Given the description of an element on the screen output the (x, y) to click on. 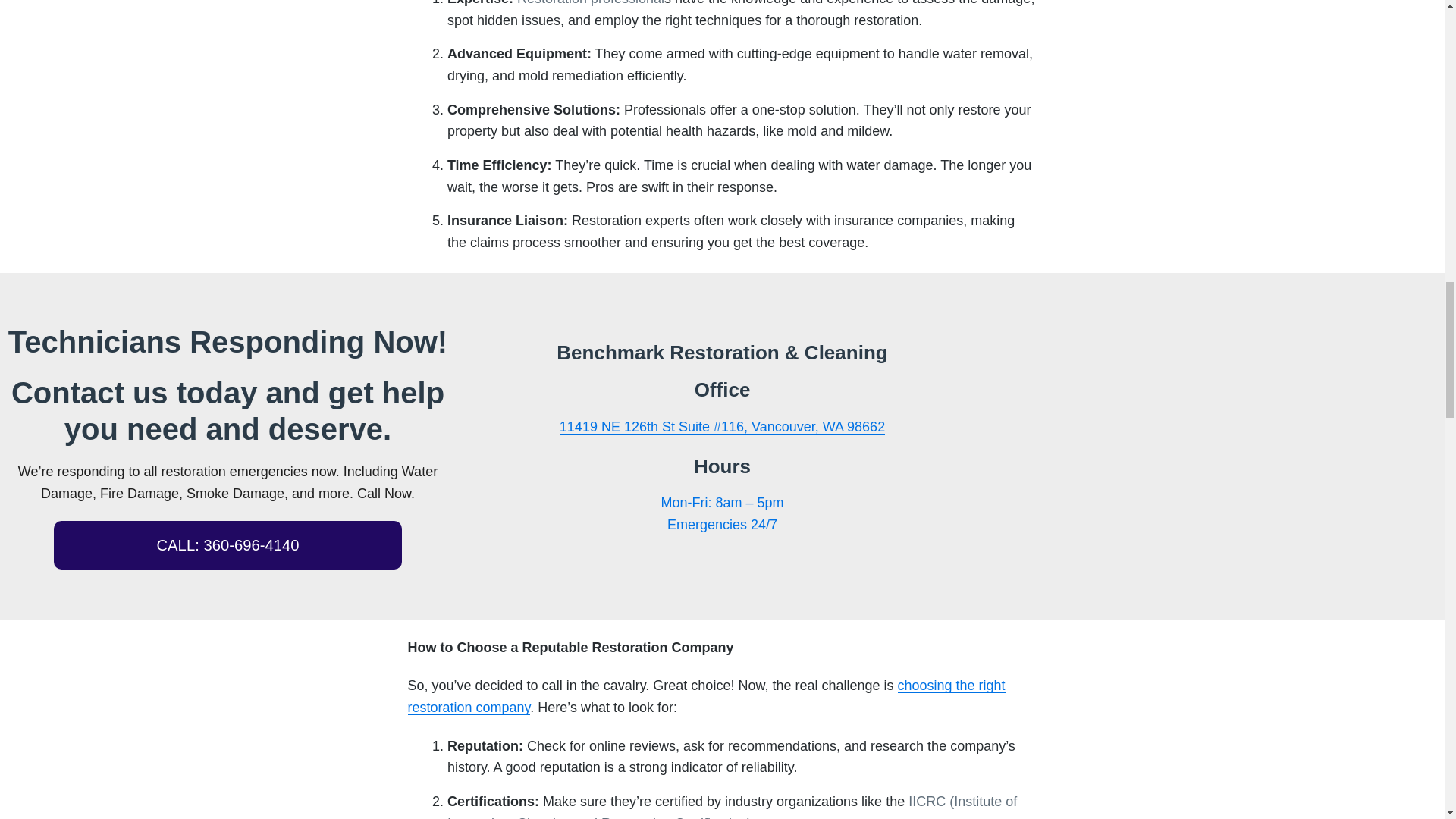
Restoration professional (589, 2)
CALL: 360-696-4140 (228, 544)
choosing the right restoration company (706, 696)
